Given the description of an element on the screen output the (x, y) to click on. 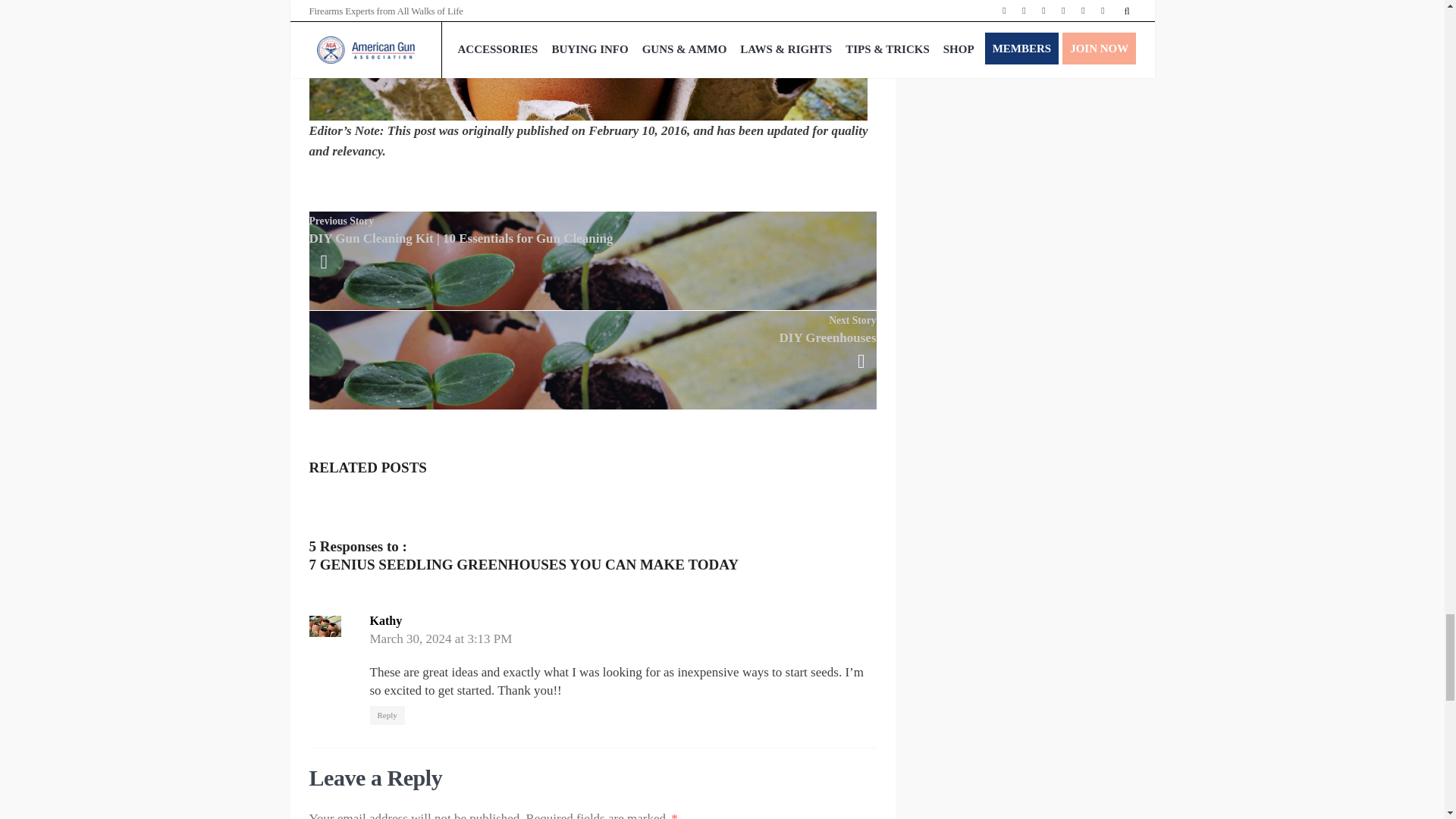
7 Genius Seedling Greenhouses You Can Make Today 4 (587, 60)
